Given the description of an element on the screen output the (x, y) to click on. 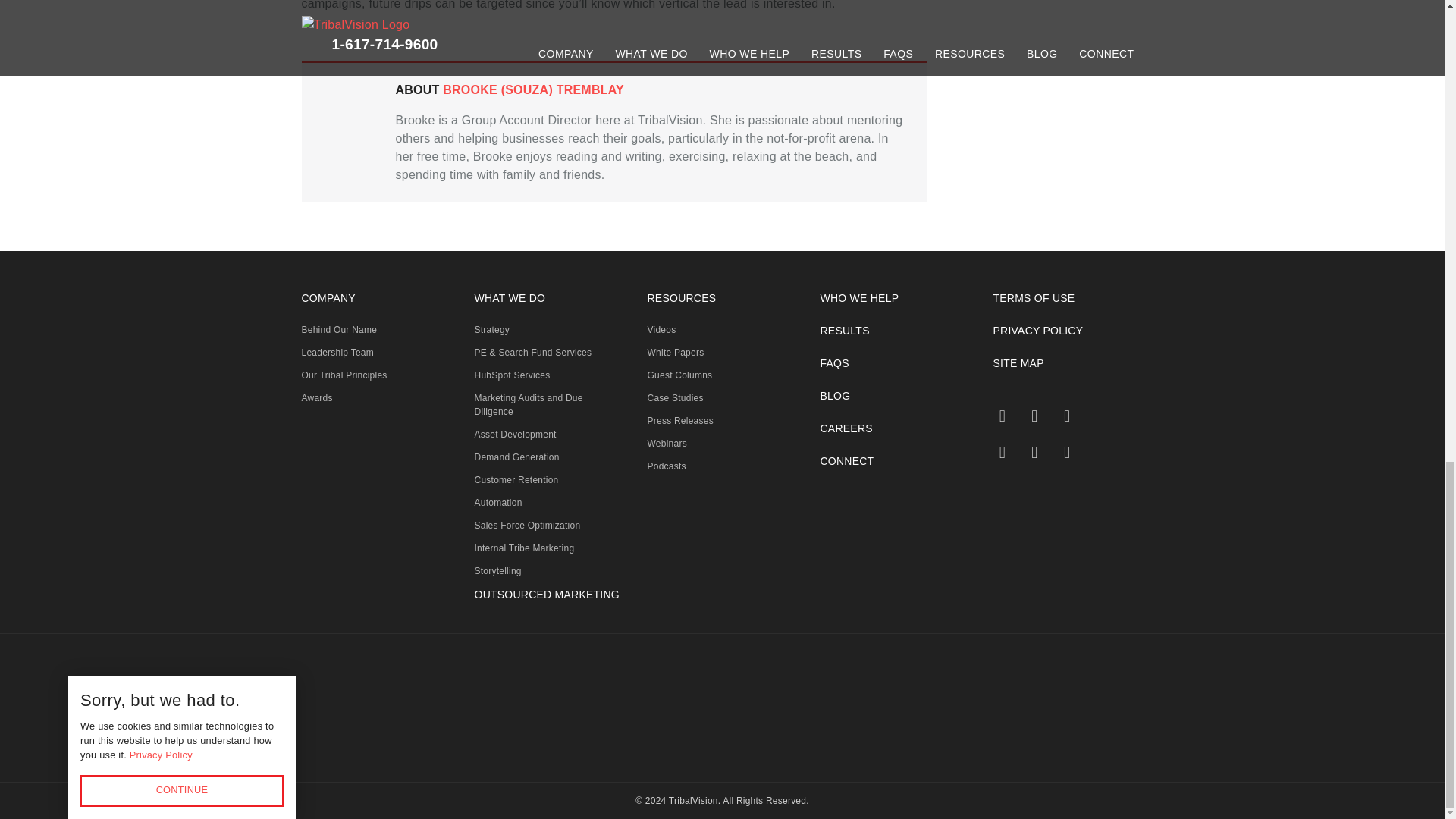
Google Premier Partner (733, 709)
Inc. 5000 American's Fastest Growing Private Companies (608, 709)
